Given the description of an element on the screen output the (x, y) to click on. 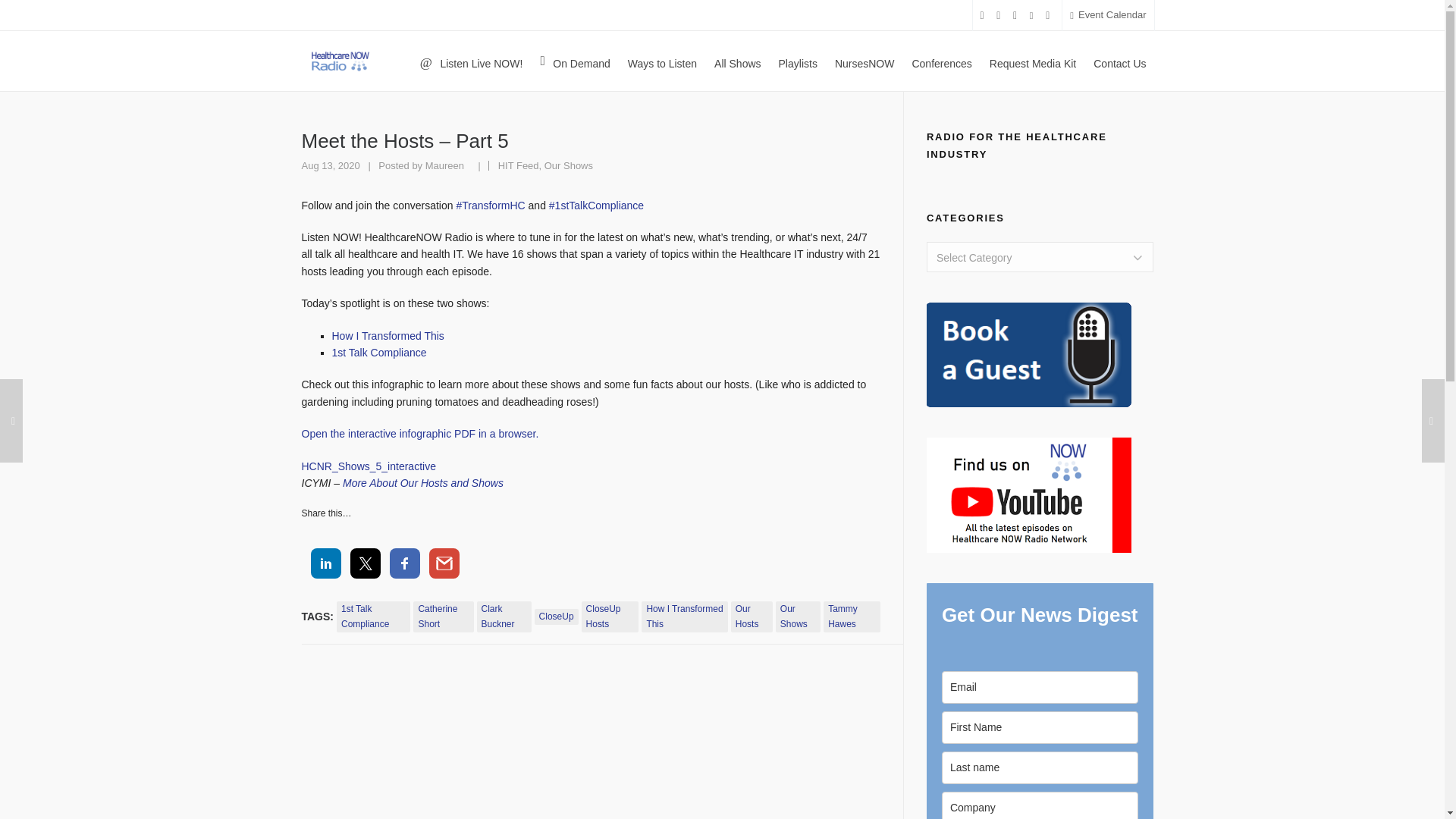
View all posts in Our Shows (568, 165)
View all posts in HIT Feed (517, 165)
Posts by Maureen (444, 165)
